Given the description of an element on the screen output the (x, y) to click on. 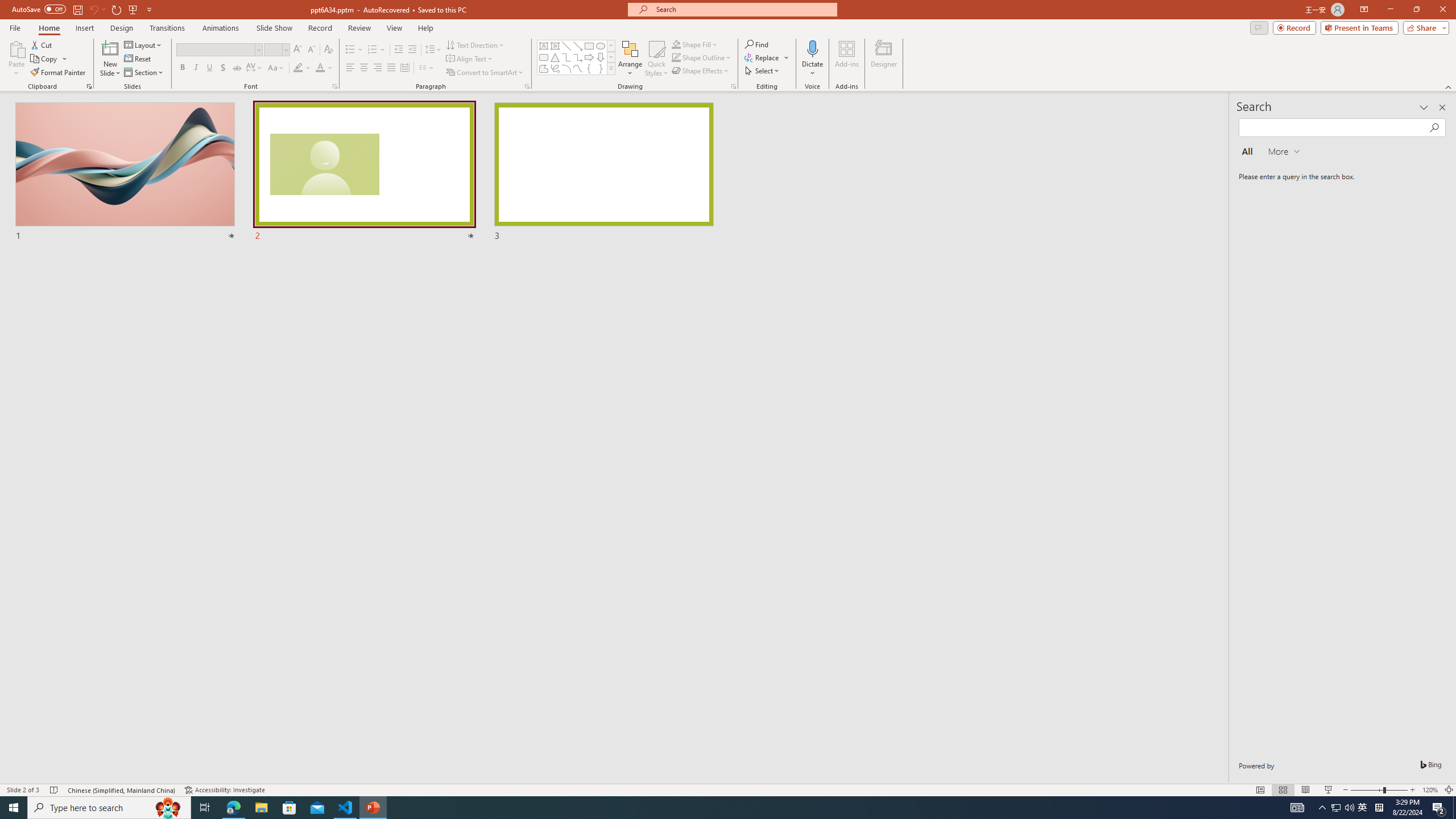
Shape Effects (700, 69)
